Given the description of an element on the screen output the (x, y) to click on. 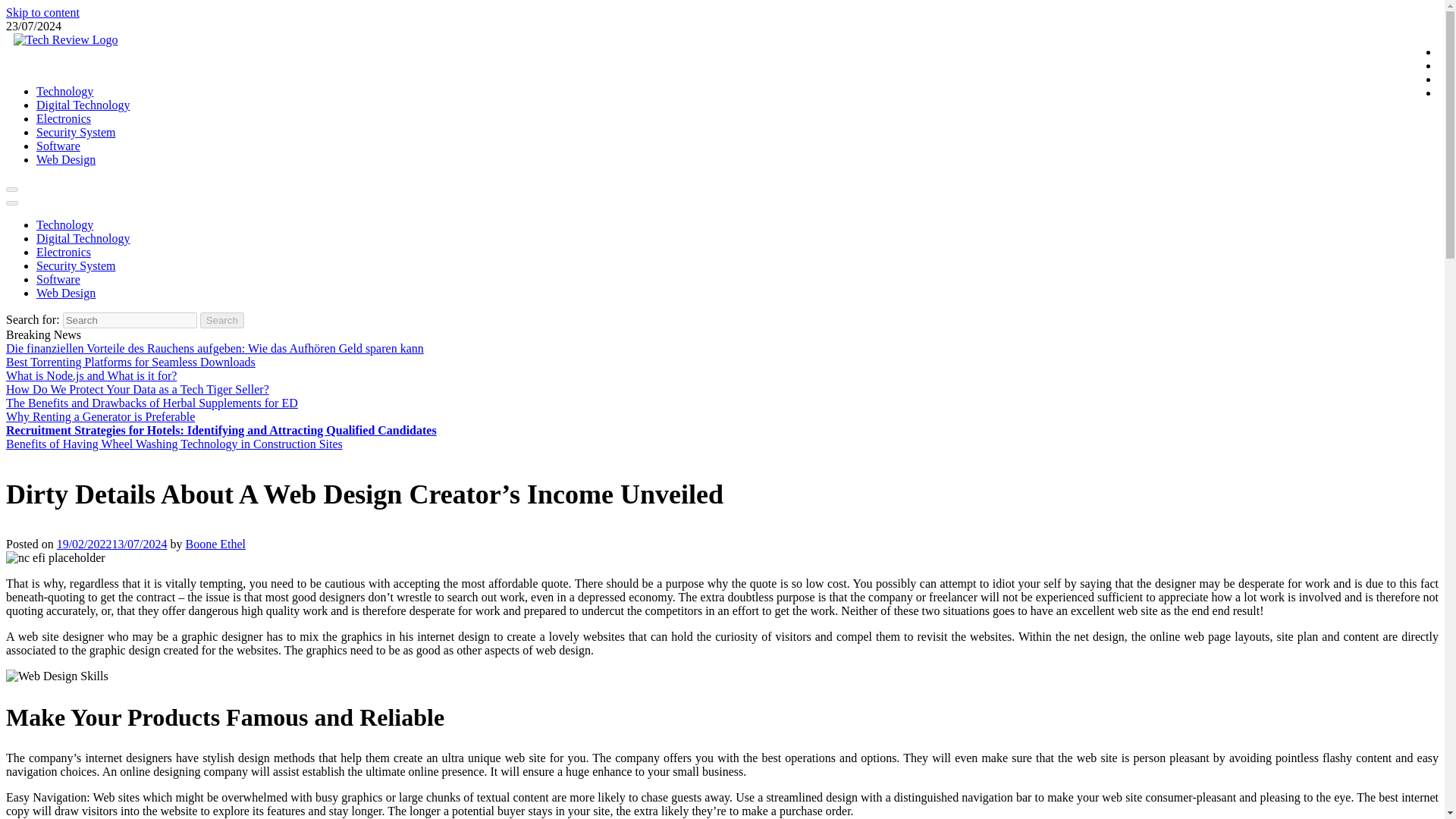
Software (58, 145)
Security System (75, 132)
Search (222, 320)
Search (222, 320)
Dirty Details About A Web Design Creator's Income Unveiled (54, 558)
Skip to content (42, 11)
Why Renting a Generator is Preferable (100, 416)
Dirty Details About A Web Design Creator's Income Unveiled (56, 676)
Electronics (63, 251)
Software (58, 278)
Digital Technology (82, 104)
Electronics (63, 118)
Web Design (66, 159)
Boone Ethel (215, 543)
Web Design (66, 292)
